Given the description of an element on the screen output the (x, y) to click on. 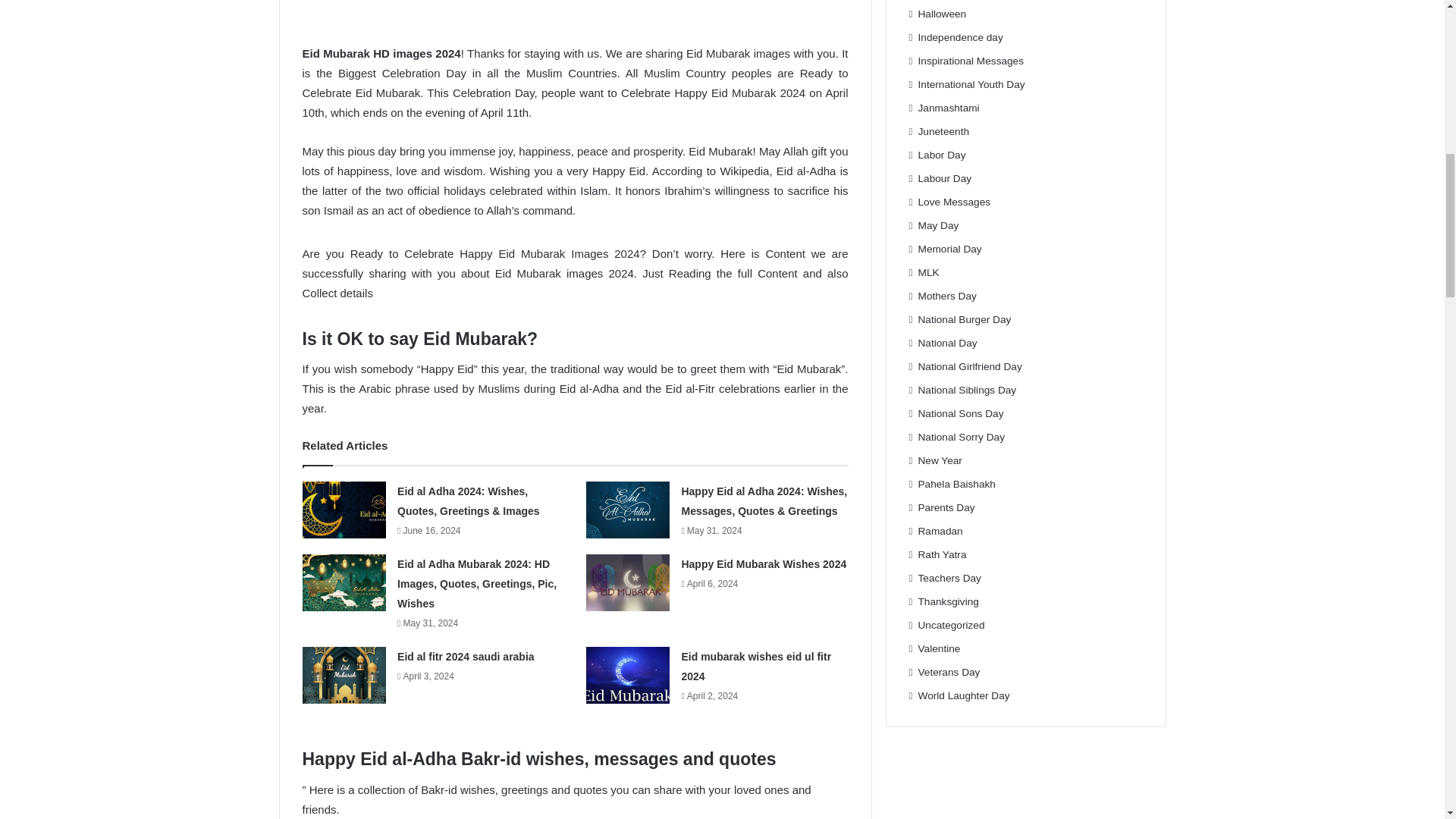
Eid al fitr 2024 saudi arabia (465, 656)
Happy Eid Mubarak Wishes 2024 (763, 563)
Eid mubarak wishes eid ul fitr 2024 (756, 666)
